Given the description of an element on the screen output the (x, y) to click on. 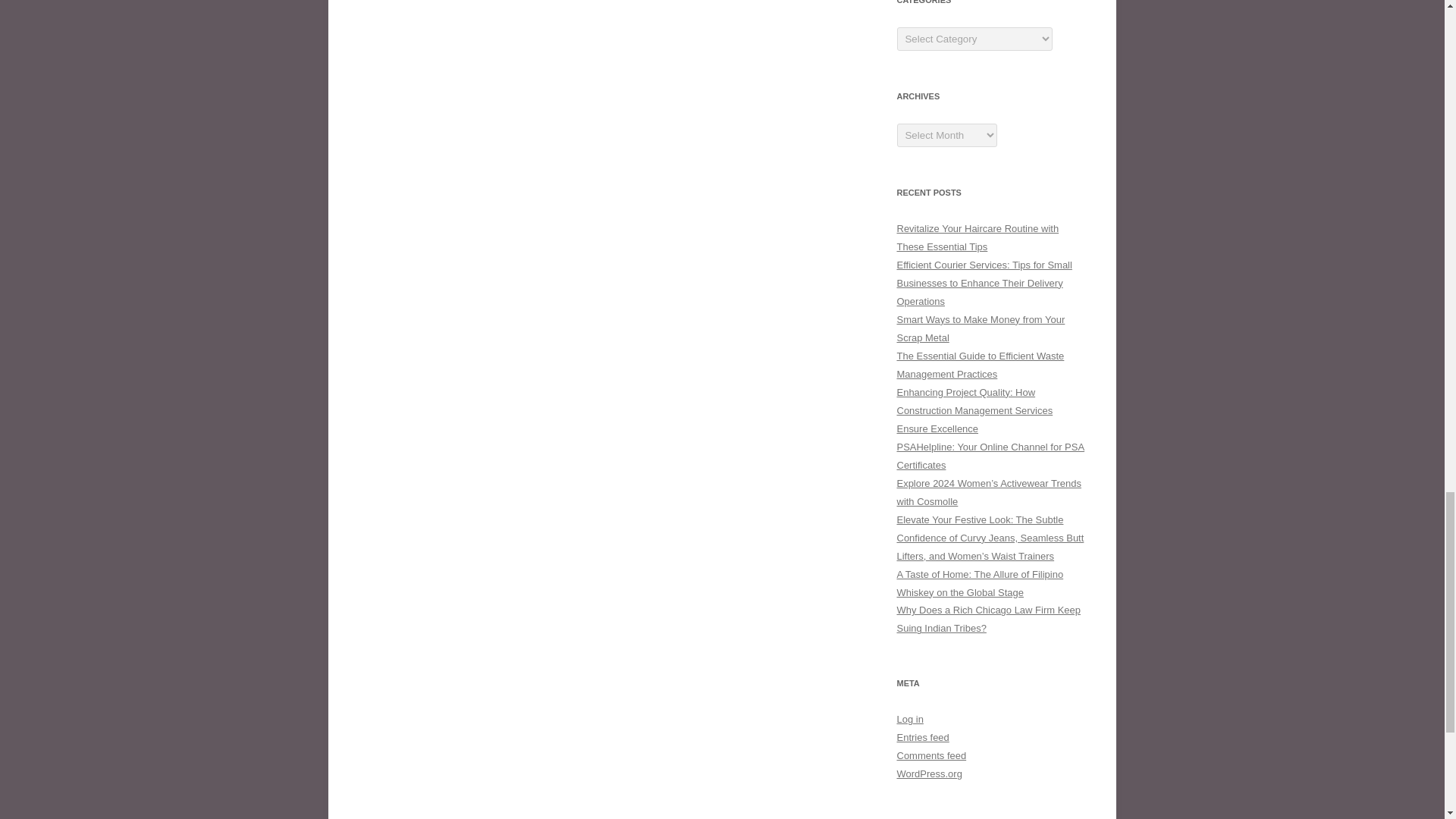
Why Does a Rich Chicago Law Firm Keep Suing Indian Tribes? (988, 618)
The Essential Guide to Efficient Waste Management Practices (980, 365)
Smart Ways to Make Money from Your Scrap Metal (980, 328)
Log in (909, 718)
Comments feed (931, 755)
Entries feed (922, 737)
PSAHelpline: Your Online Channel for PSA Certificates (990, 455)
Revitalize Your Haircare Routine with These Essential Tips (977, 237)
